Given the description of an element on the screen output the (x, y) to click on. 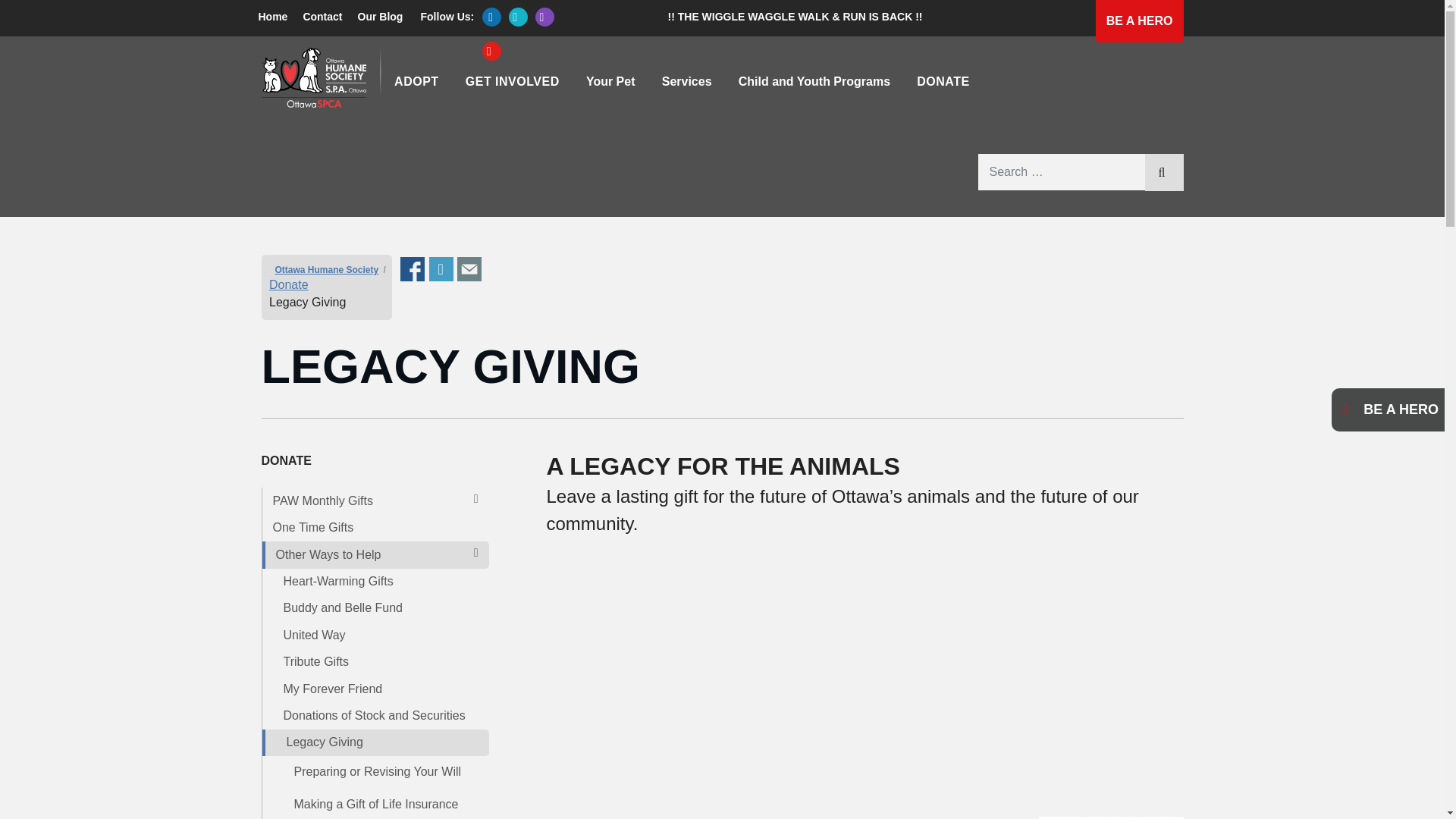
Go to Donate. (288, 284)
Go to Ottawa Humane Society. (326, 269)
GET INVOLVED (511, 81)
Skip to main content (268, 43)
